Given the description of an element on the screen output the (x, y) to click on. 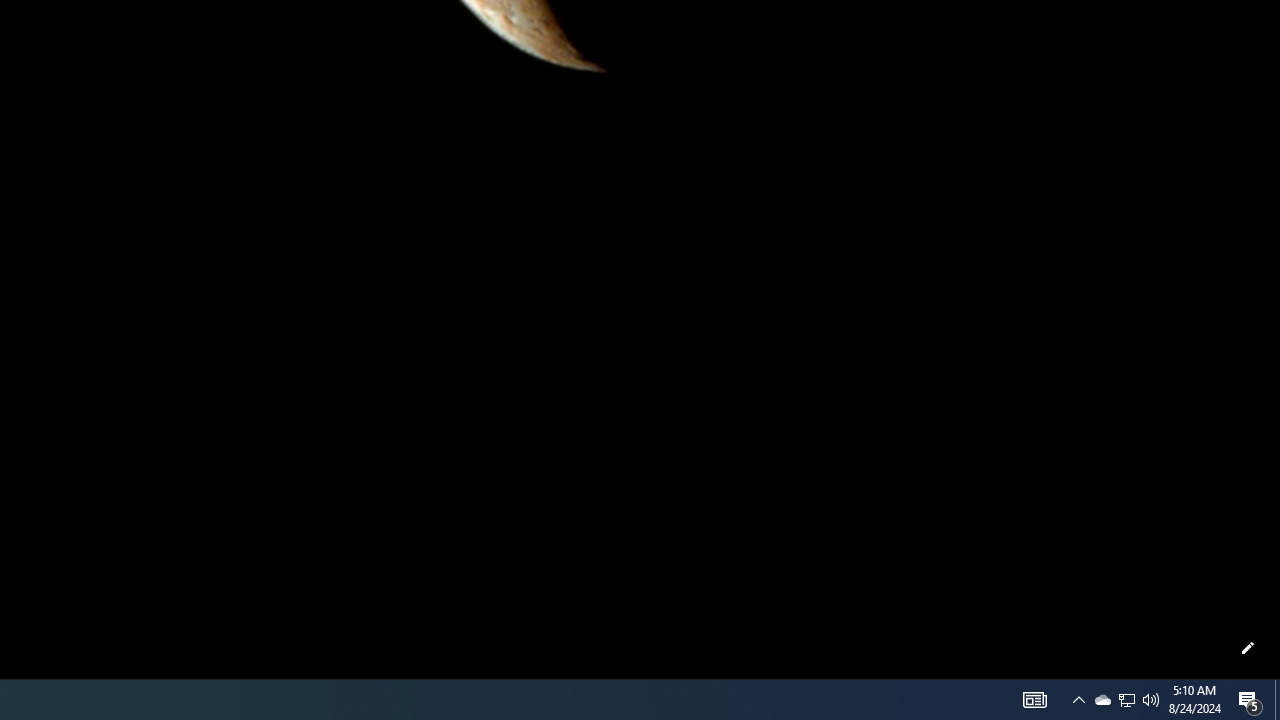
Customize this page (1247, 647)
